Given the description of an element on the screen output the (x, y) to click on. 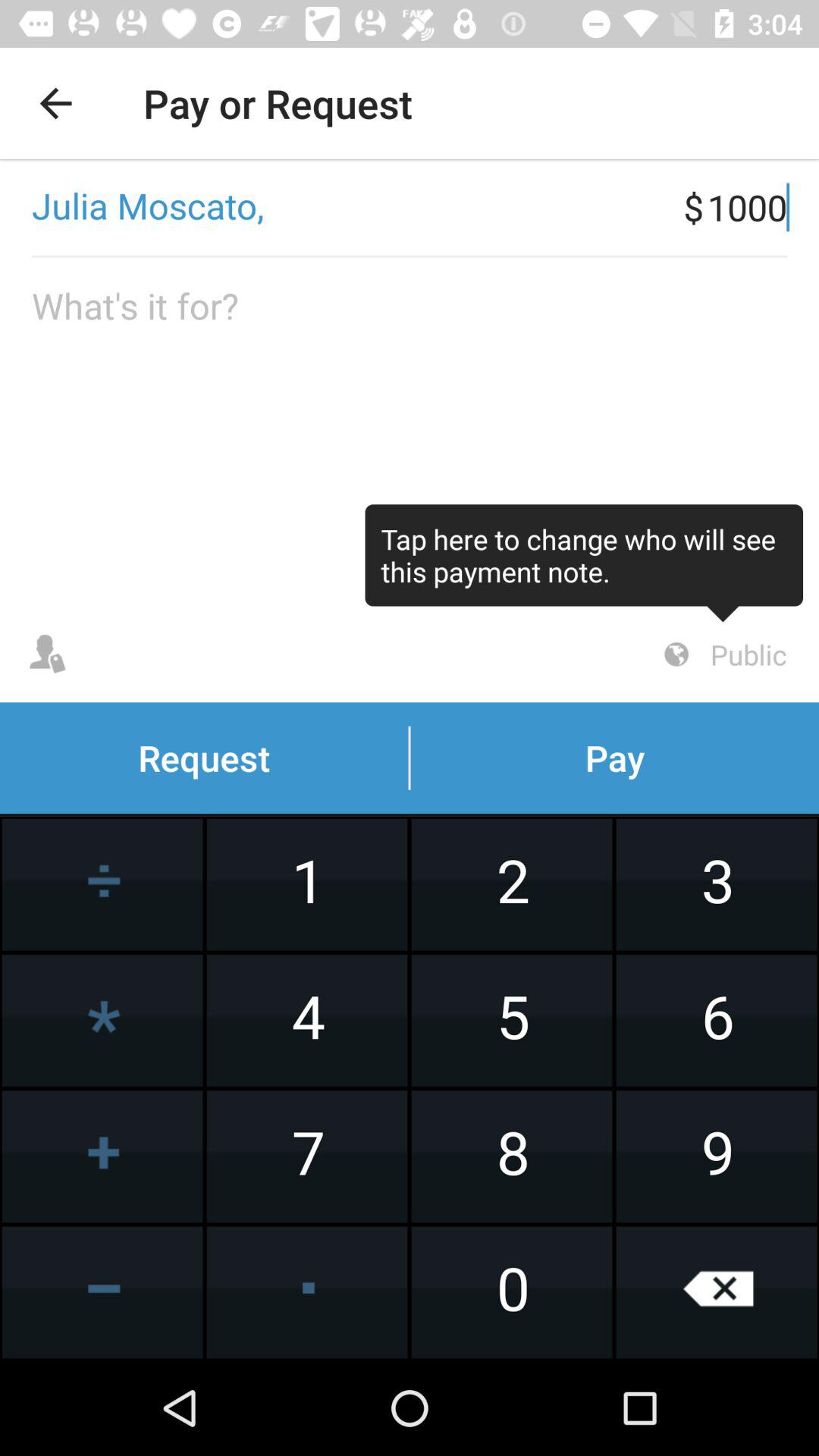
flip until tap here to item (584, 563)
